Given the description of an element on the screen output the (x, y) to click on. 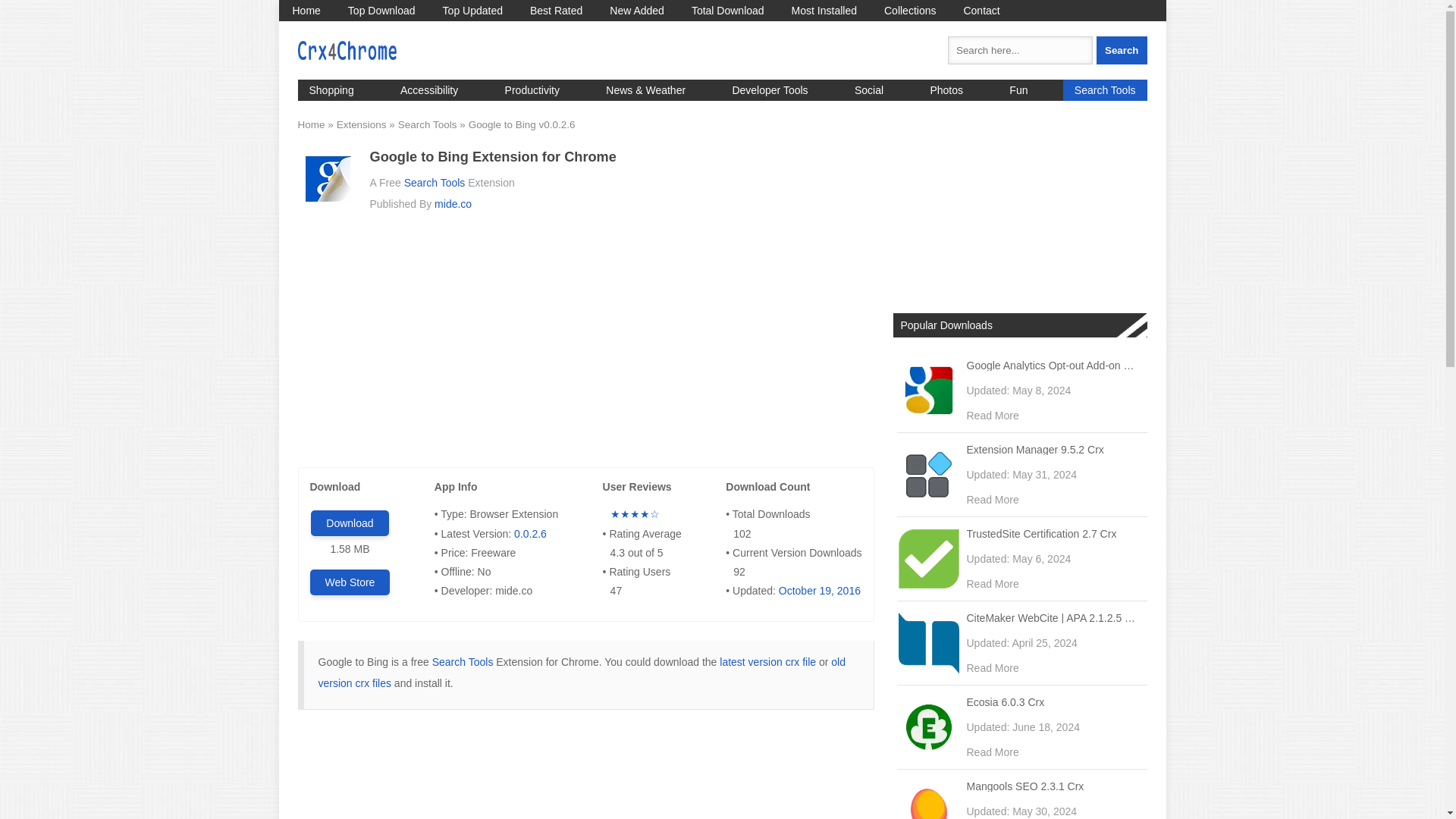
Top Download (381, 10)
Search (1121, 50)
Developer Tools (769, 89)
Search (1121, 50)
Home (306, 10)
Most Installed (823, 10)
Shopping (331, 89)
Photos (946, 89)
Most Installed (823, 10)
Accessibility (428, 89)
